Given the description of an element on the screen output the (x, y) to click on. 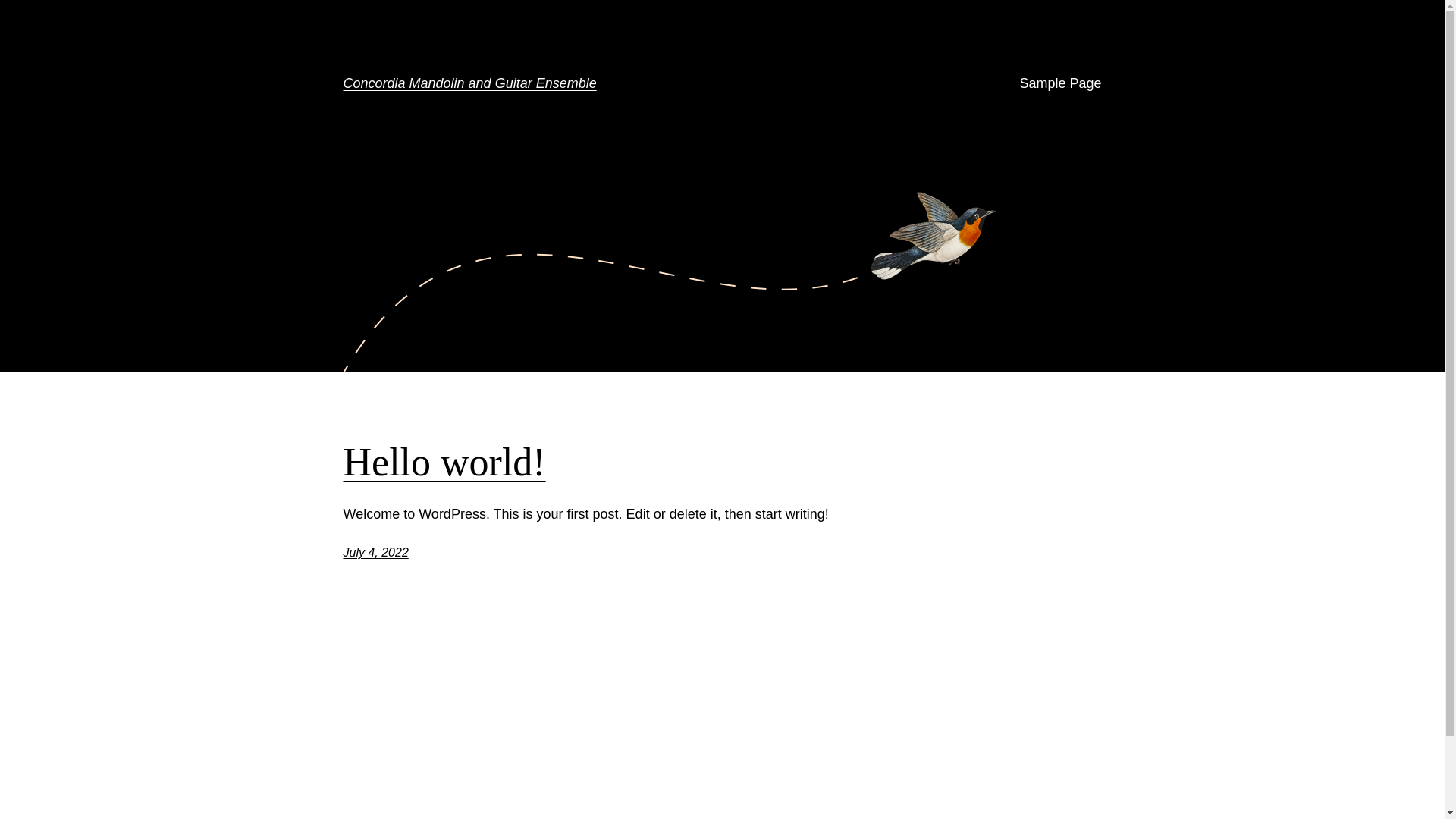
July 4, 2022 Element type: text (374, 552)
Concordia Mandolin and Guitar Ensemble Element type: text (469, 83)
Sample Page Element type: text (1060, 83)
Hello world! Element type: text (443, 462)
